Given the description of an element on the screen output the (x, y) to click on. 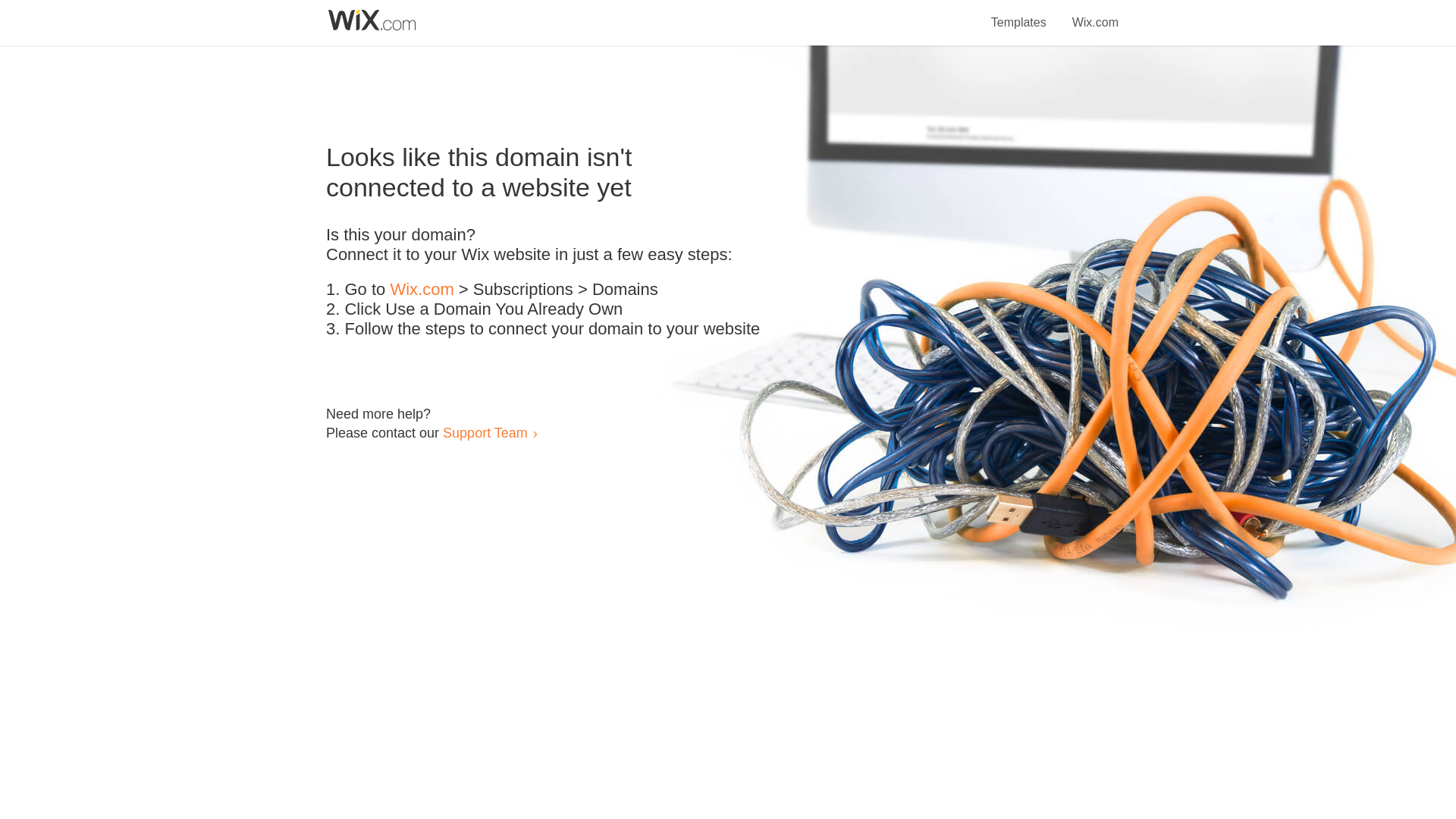
Wix.com (1095, 14)
Wix.com (421, 289)
Support Team (484, 432)
Templates (1018, 14)
